Given the description of an element on the screen output the (x, y) to click on. 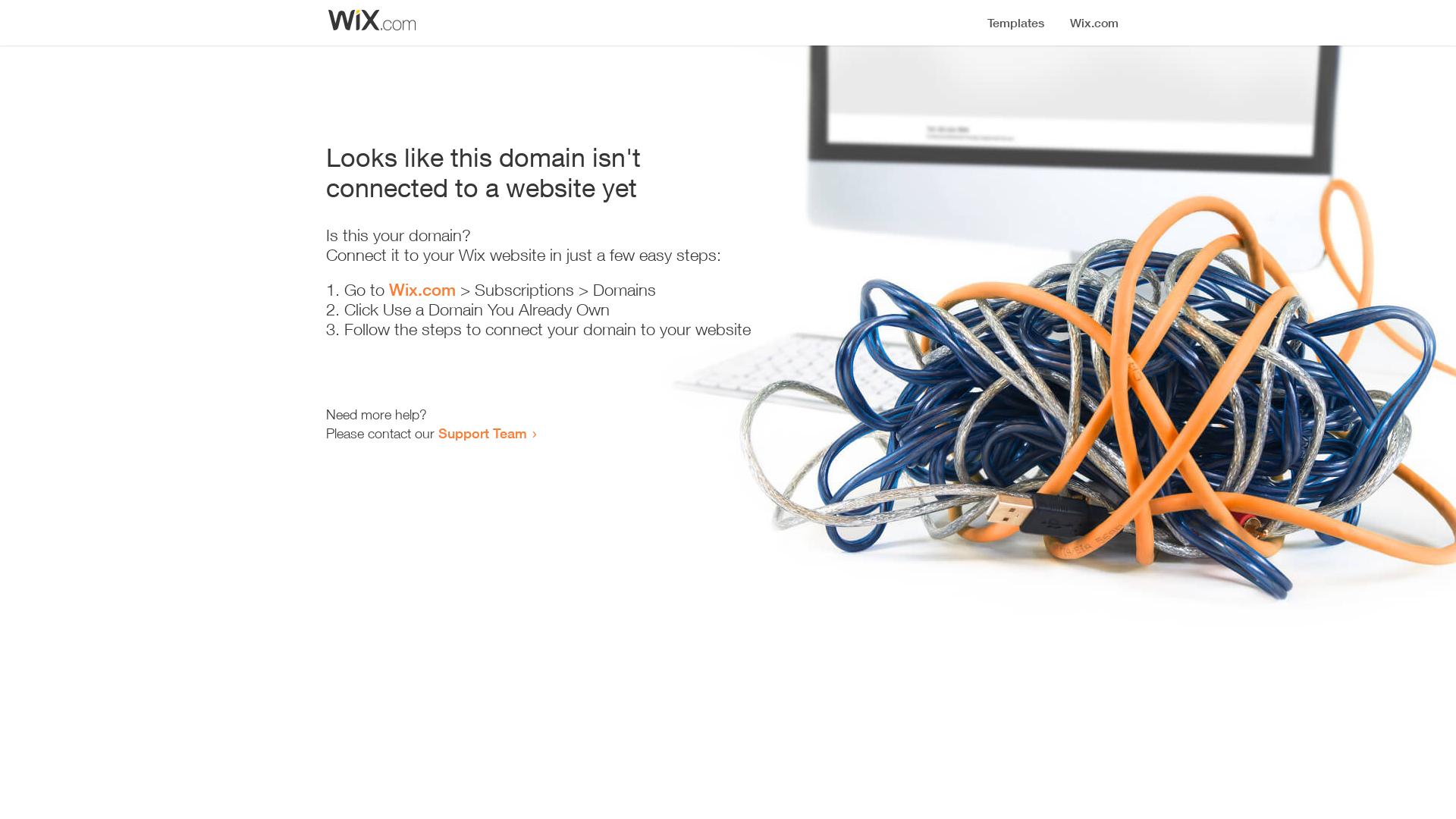
Support Team Element type: text (482, 432)
Wix.com Element type: text (422, 289)
